Given the description of an element on the screen output the (x, y) to click on. 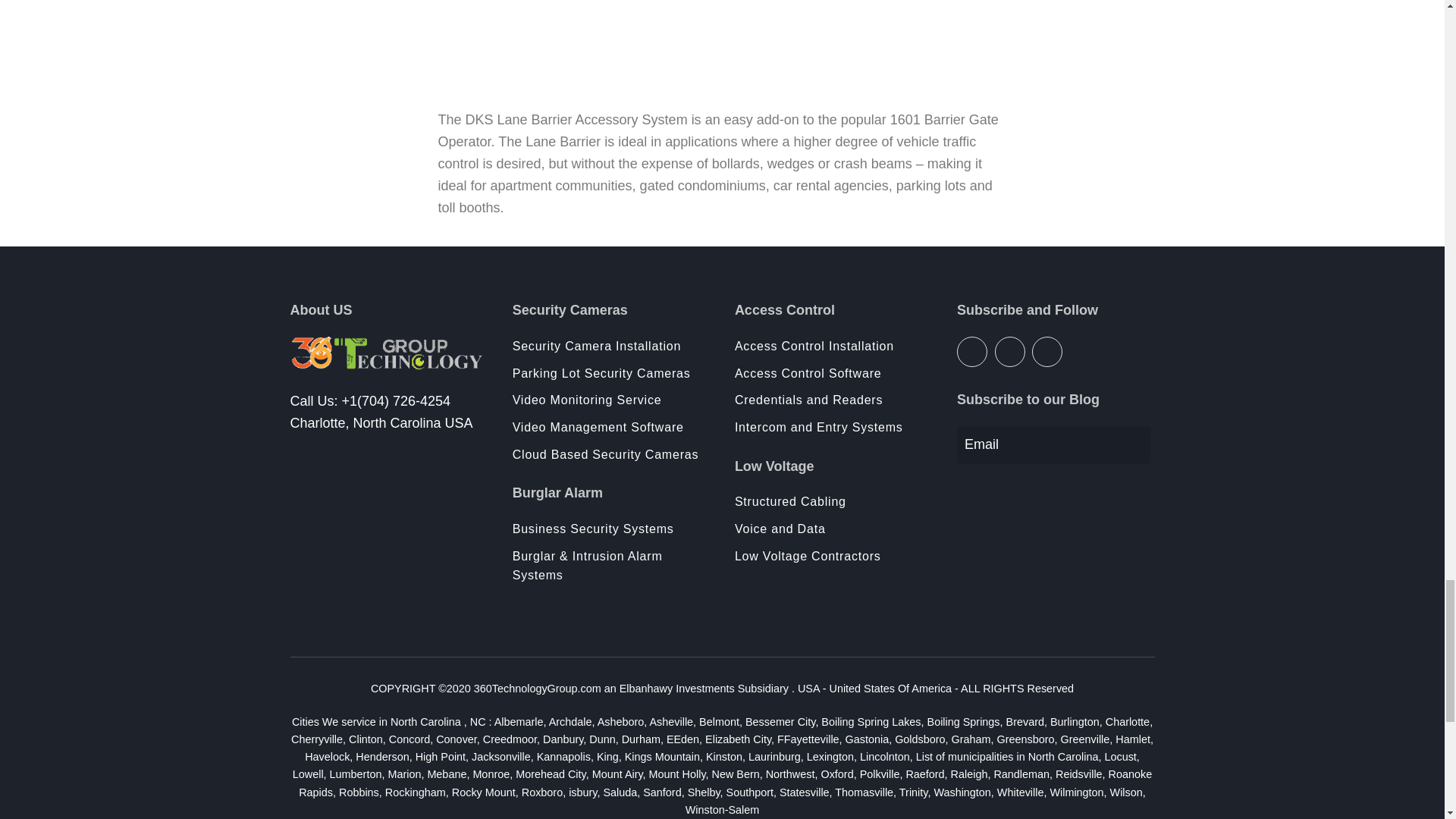
youtube (1047, 351)
facebook (971, 351)
DKS: 1620 Lane Barrier (722, 44)
twitter-square (1009, 351)
